Given the description of an element on the screen output the (x, y) to click on. 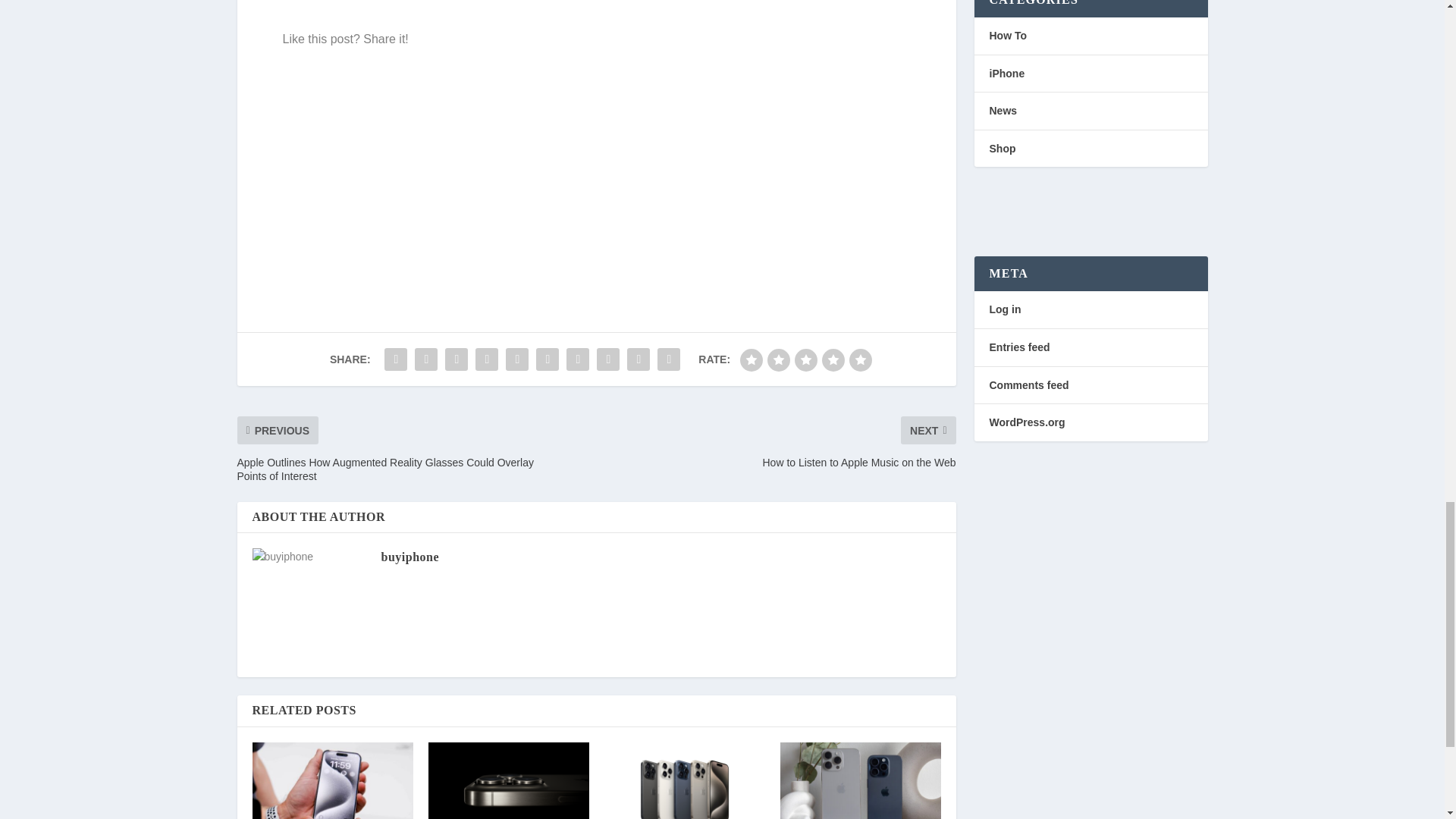
buyiphone (409, 556)
